Given the description of an element on the screen output the (x, y) to click on. 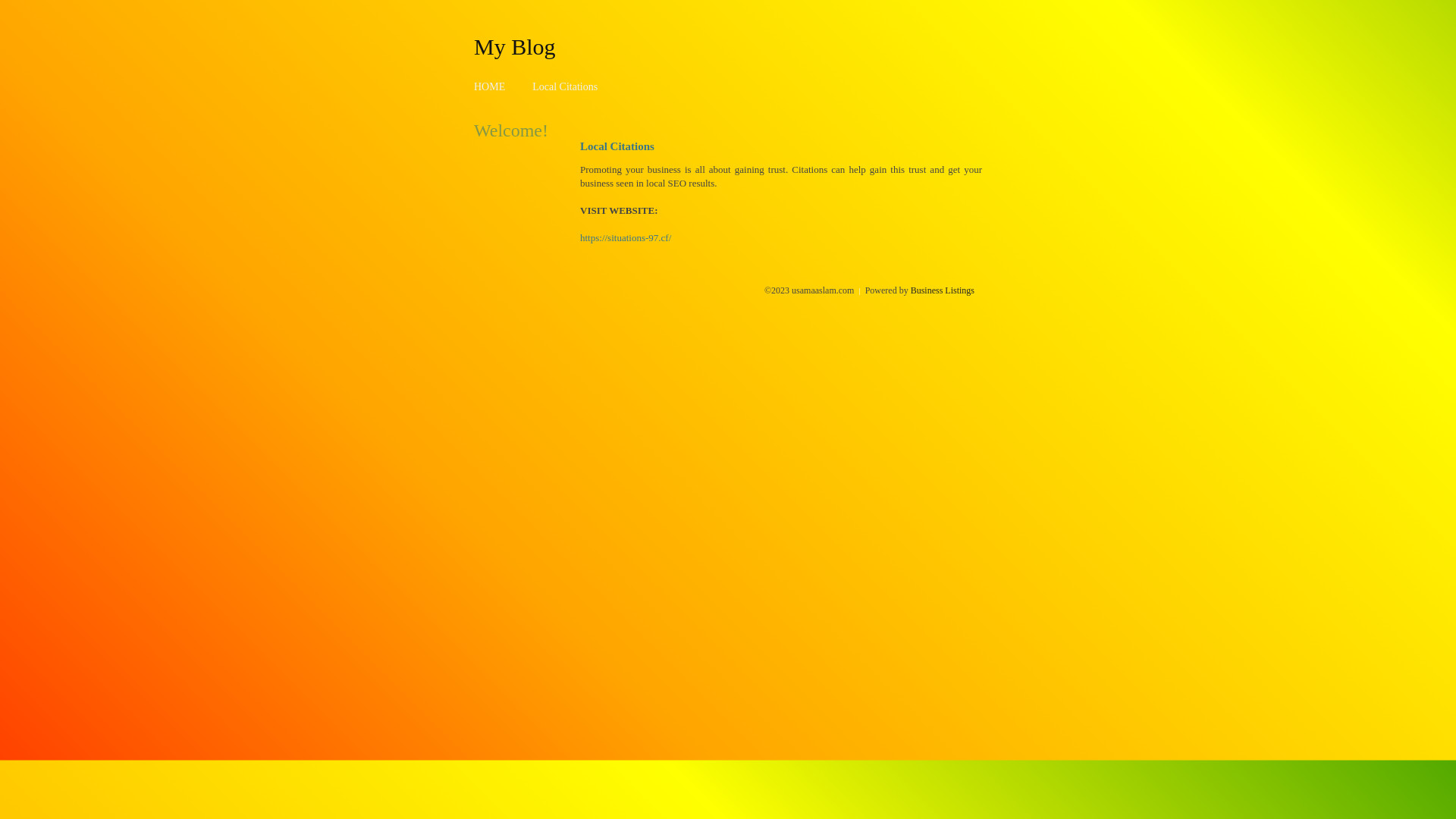
HOME Element type: text (489, 86)
Business Listings Element type: text (942, 290)
Local Citations Element type: text (564, 86)
My Blog Element type: text (514, 46)
https://situations-97.cf/ Element type: text (625, 237)
